Given the description of an element on the screen output the (x, y) to click on. 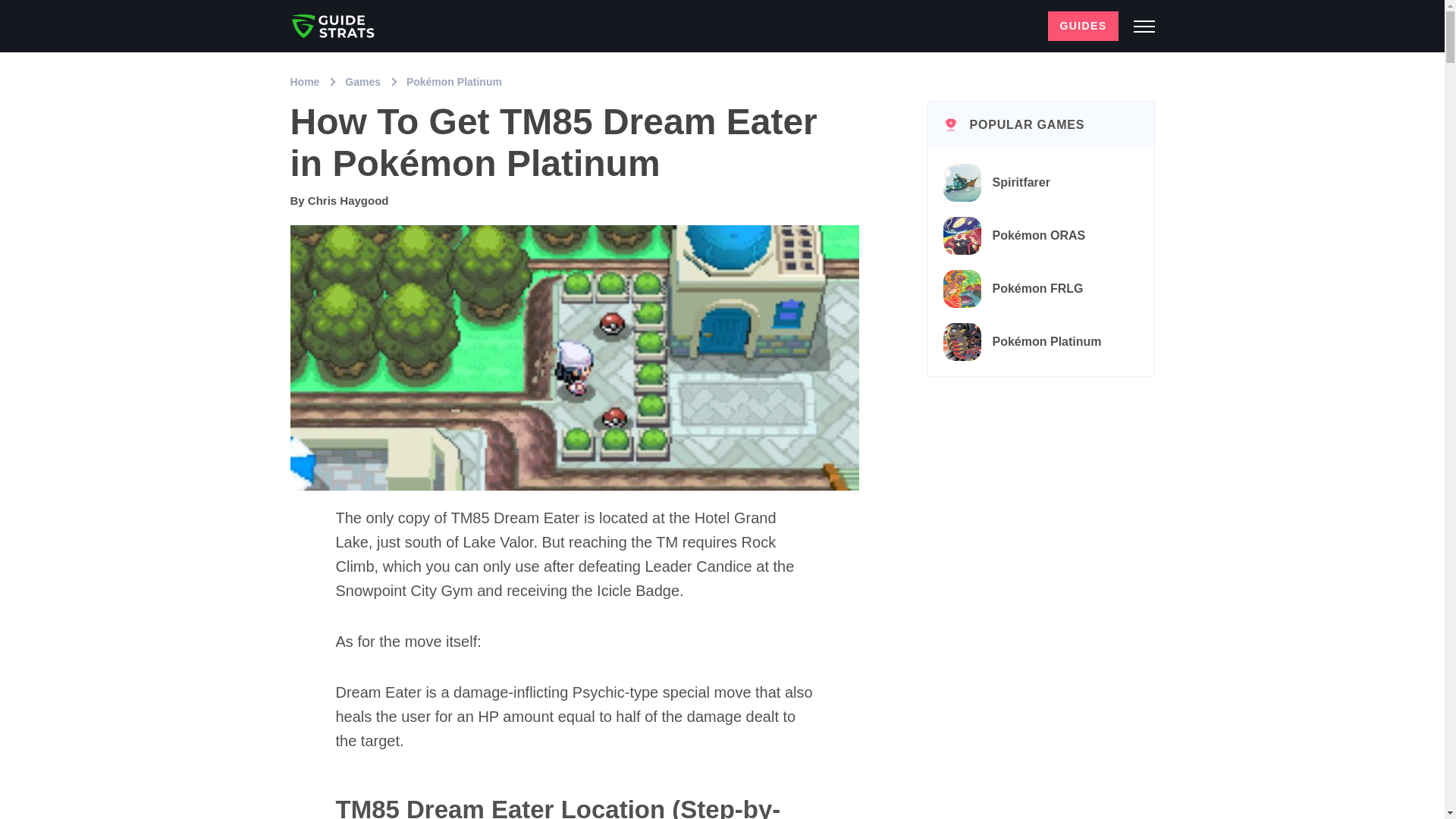
Spiritfarer (1041, 182)
Chris Haygood (347, 200)
Games (364, 81)
Home (305, 81)
GUIDES (1083, 25)
